Given the description of an element on the screen output the (x, y) to click on. 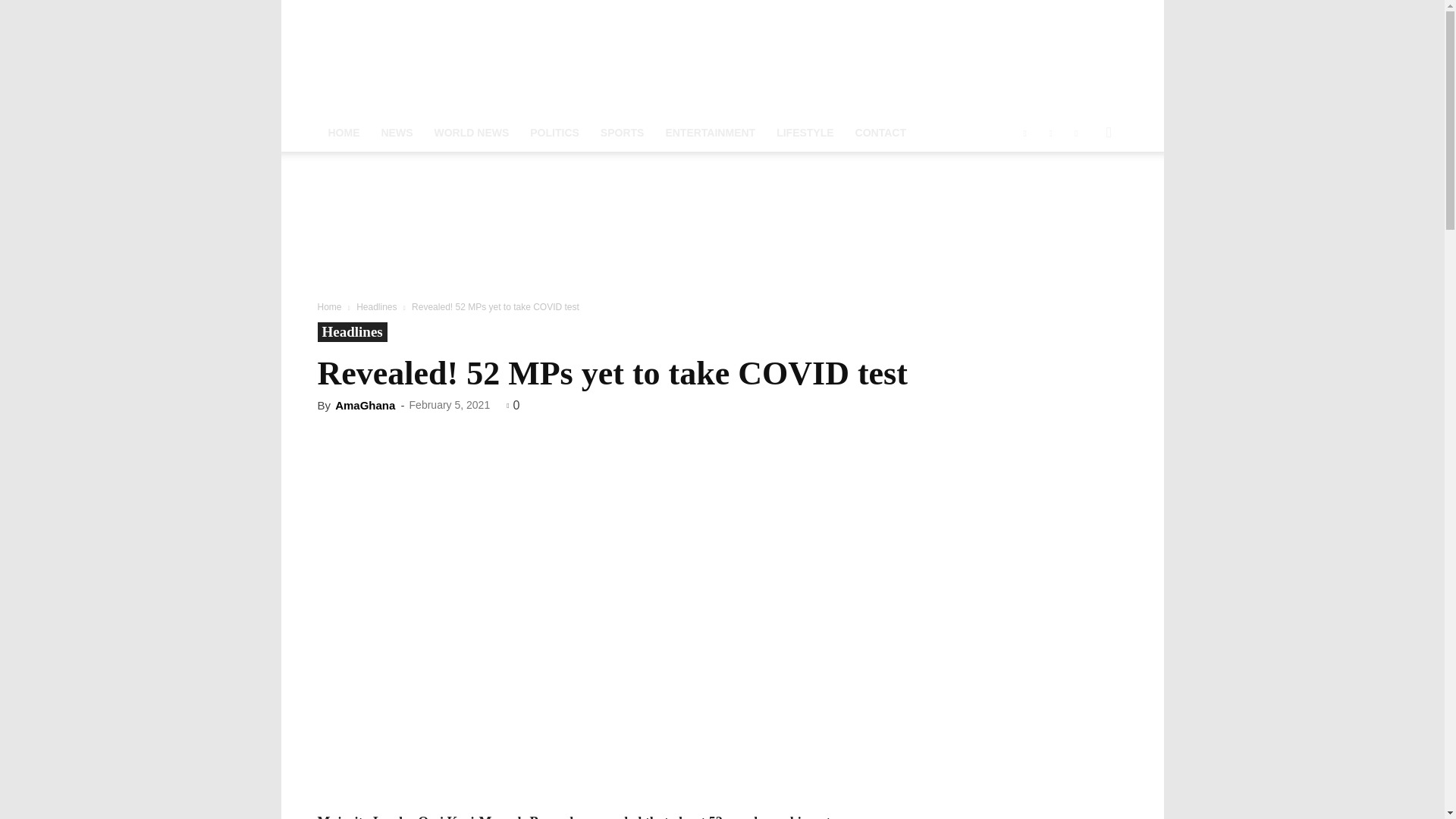
NEWS (396, 132)
HOME (343, 132)
AmaGhanaonline.com (721, 56)
Amaghanaonline logo (721, 56)
